Given the description of an element on the screen output the (x, y) to click on. 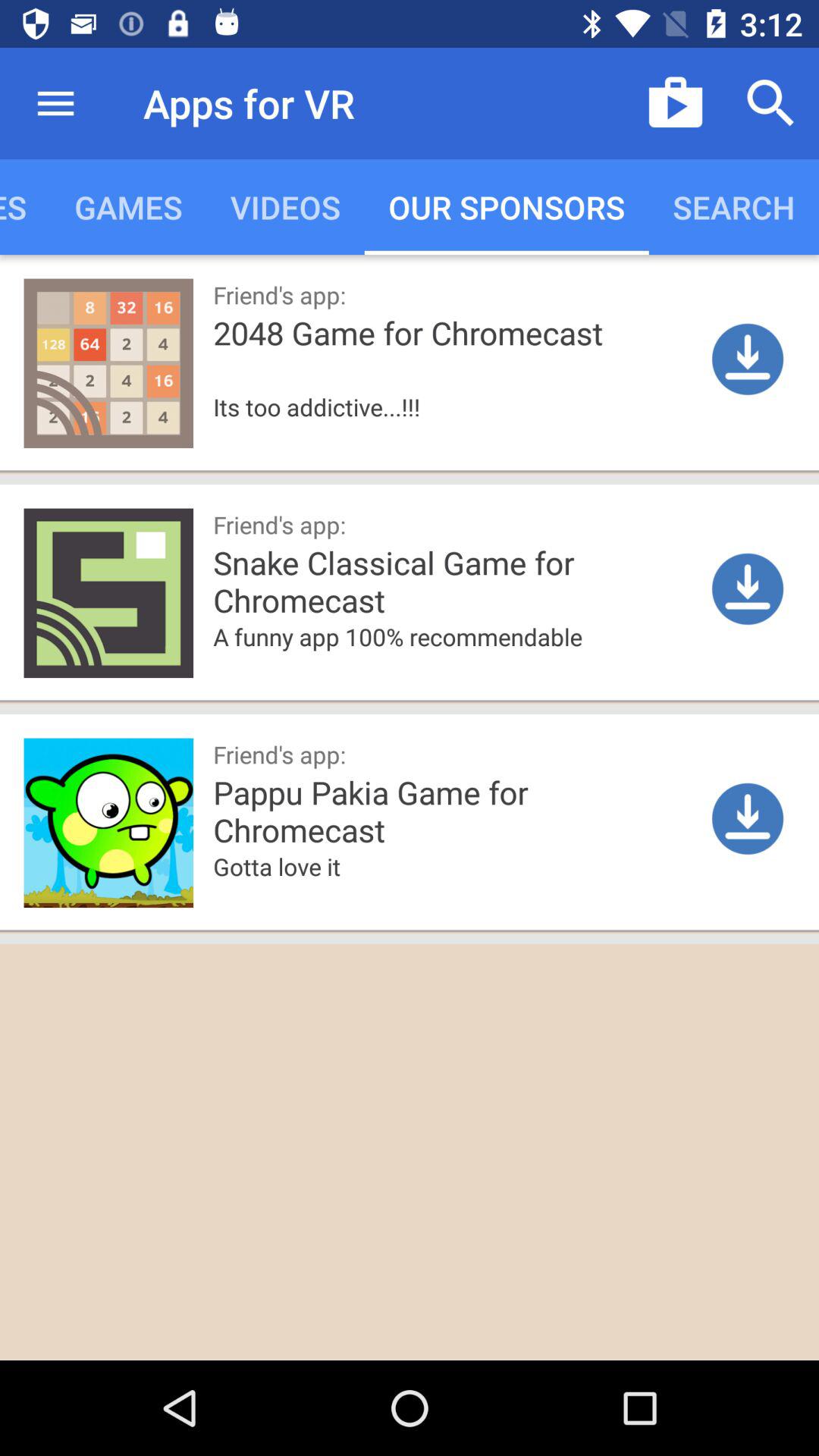
tap the item above the our sponsors item (675, 103)
